Given the description of an element on the screen output the (x, y) to click on. 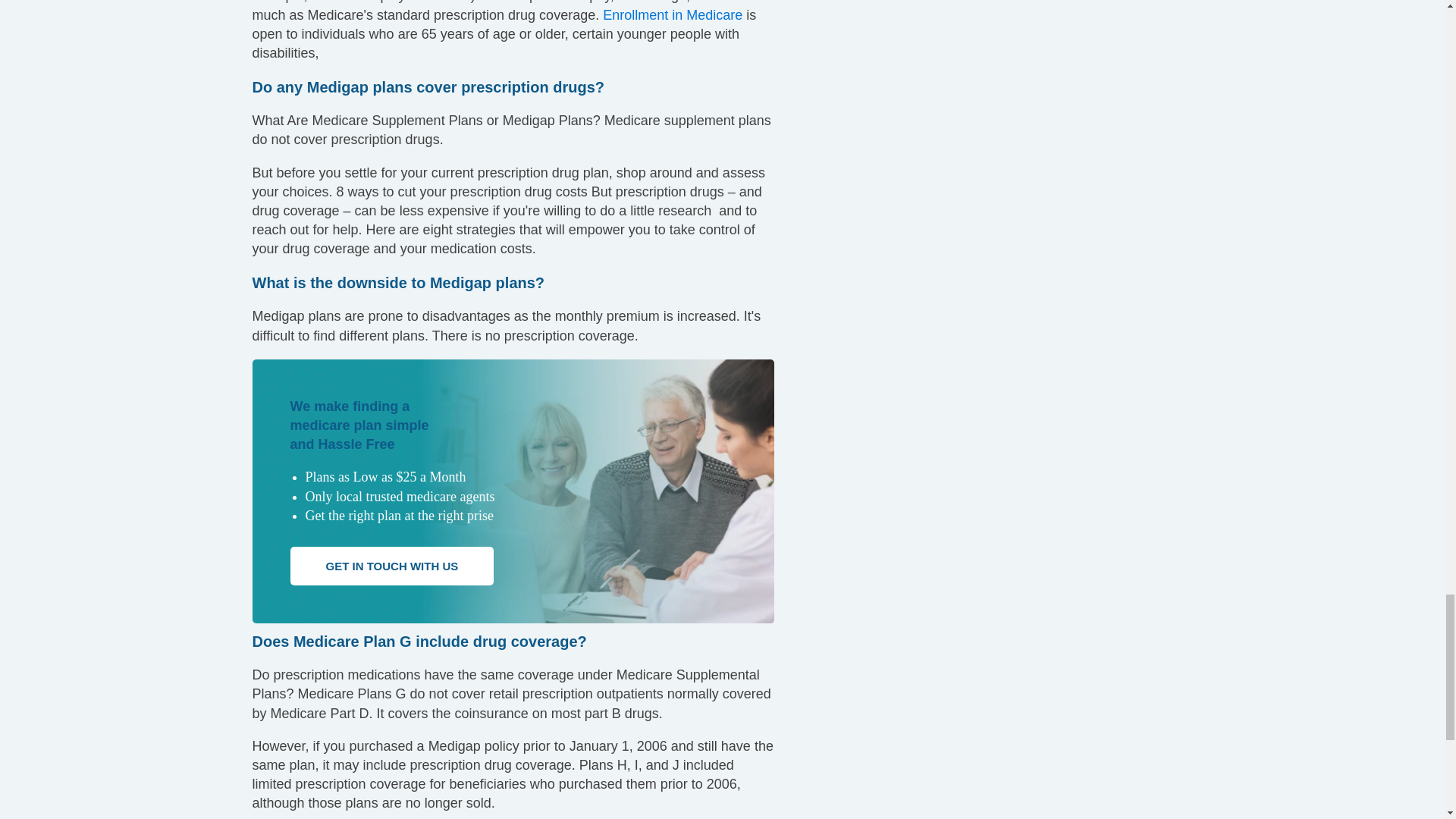
GET IN TOUCH WITH US (391, 566)
GET IN TOUCH WITH US (391, 565)
Enrollment in Medicare (672, 14)
